Given the description of an element on the screen output the (x, y) to click on. 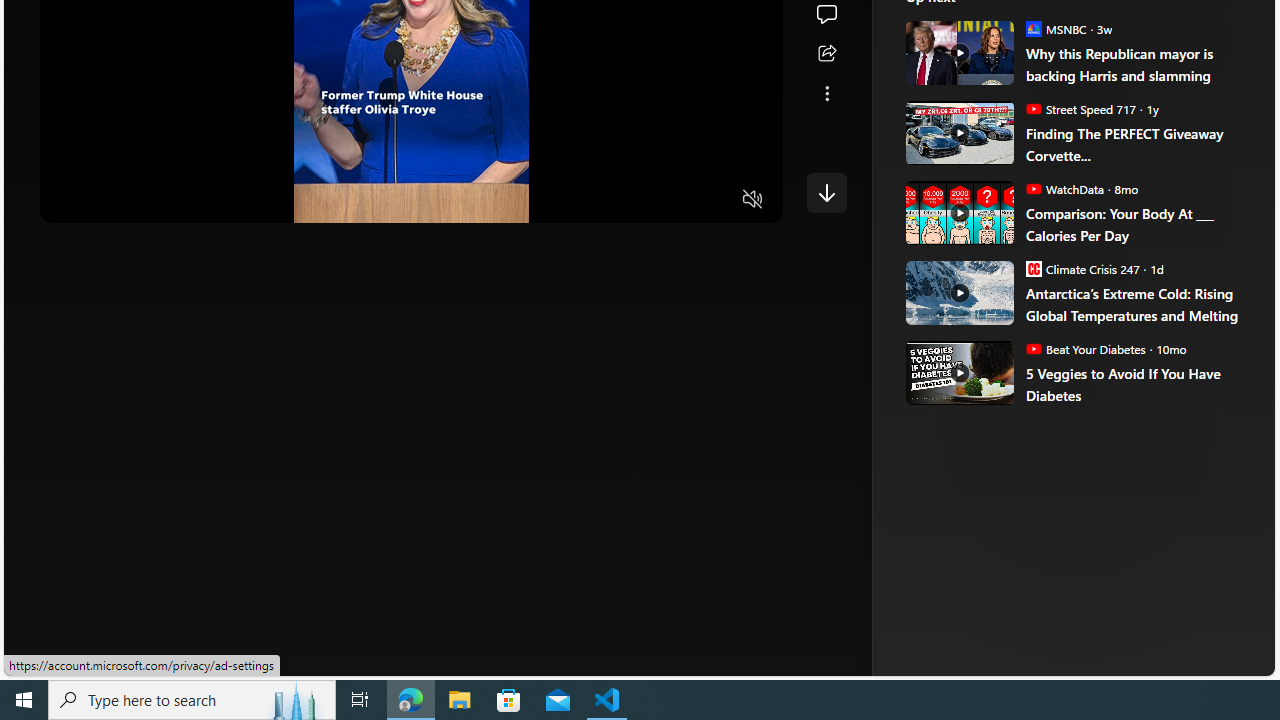
Finding The PERFECT Giveaway Corvette... (958, 132)
MSNBC (1033, 28)
Pause (69, 200)
WatchData WatchData (1064, 188)
Share this story (826, 53)
5 Veggies to Avoid If You Have Diabetes (1136, 384)
Progress Bar (411, 174)
Class: control (826, 192)
Seek Forward (150, 200)
Beat Your Diabetes (1033, 348)
Street Speed 717 (1033, 108)
